Given the description of an element on the screen output the (x, y) to click on. 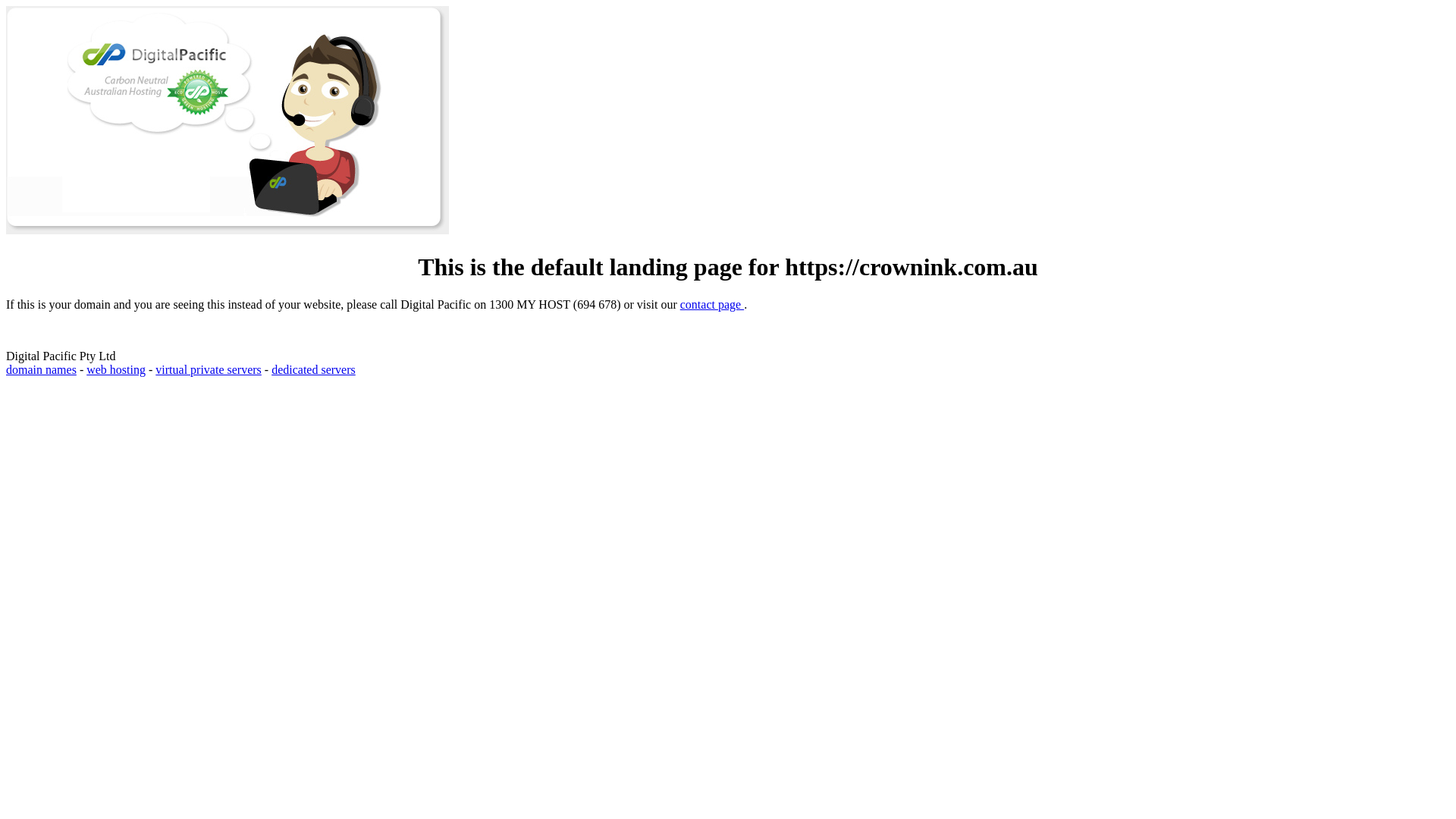
domain names Element type: text (41, 369)
contact page Element type: text (711, 304)
web hosting Element type: text (115, 369)
dedicated servers Element type: text (313, 369)
virtual private servers Element type: text (208, 369)
